Given the description of an element on the screen output the (x, y) to click on. 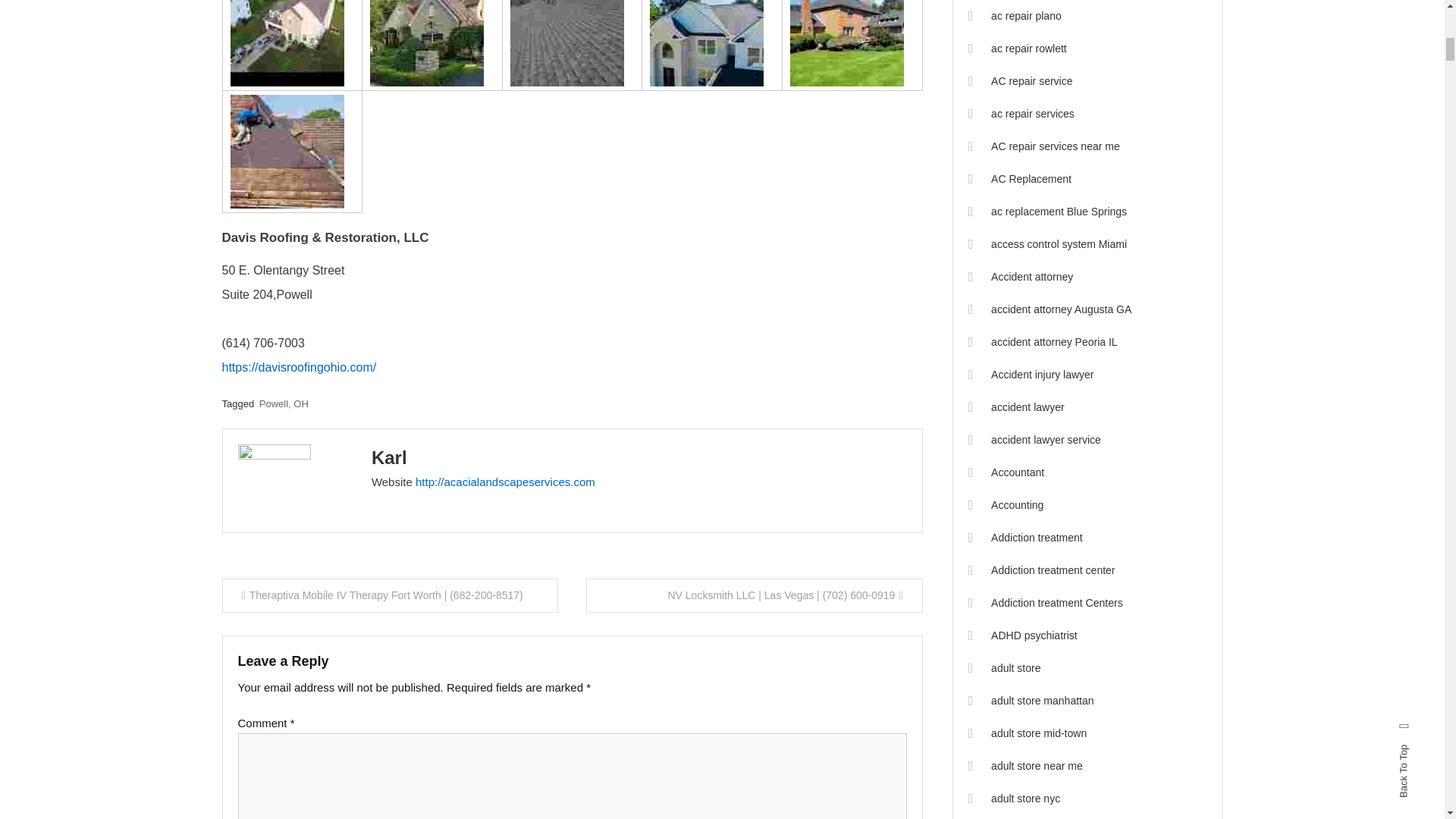
Posts by Karl (389, 457)
